Given the description of an element on the screen output the (x, y) to click on. 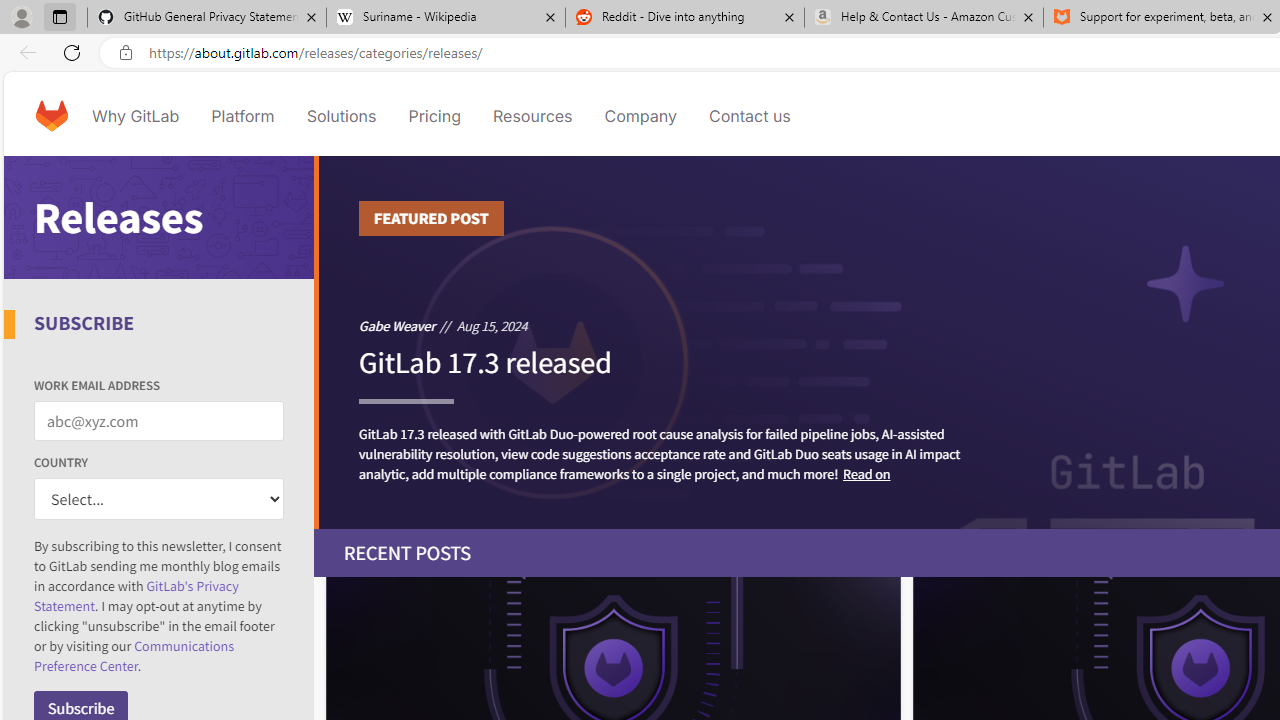
Pricing (433, 115)
Pricing (433, 115)
Why GitLab (136, 115)
Platform (242, 115)
GitHub General Privacy Statement - GitHub Docs (207, 17)
GitLab 17.3 released (484, 371)
Gabe Weaver (397, 325)
Resources (532, 115)
Communications Preference Center (134, 656)
Help & Contact Us - Amazon Customer Service - Sleeping (924, 17)
Platform (242, 115)
